Given the description of an element on the screen output the (x, y) to click on. 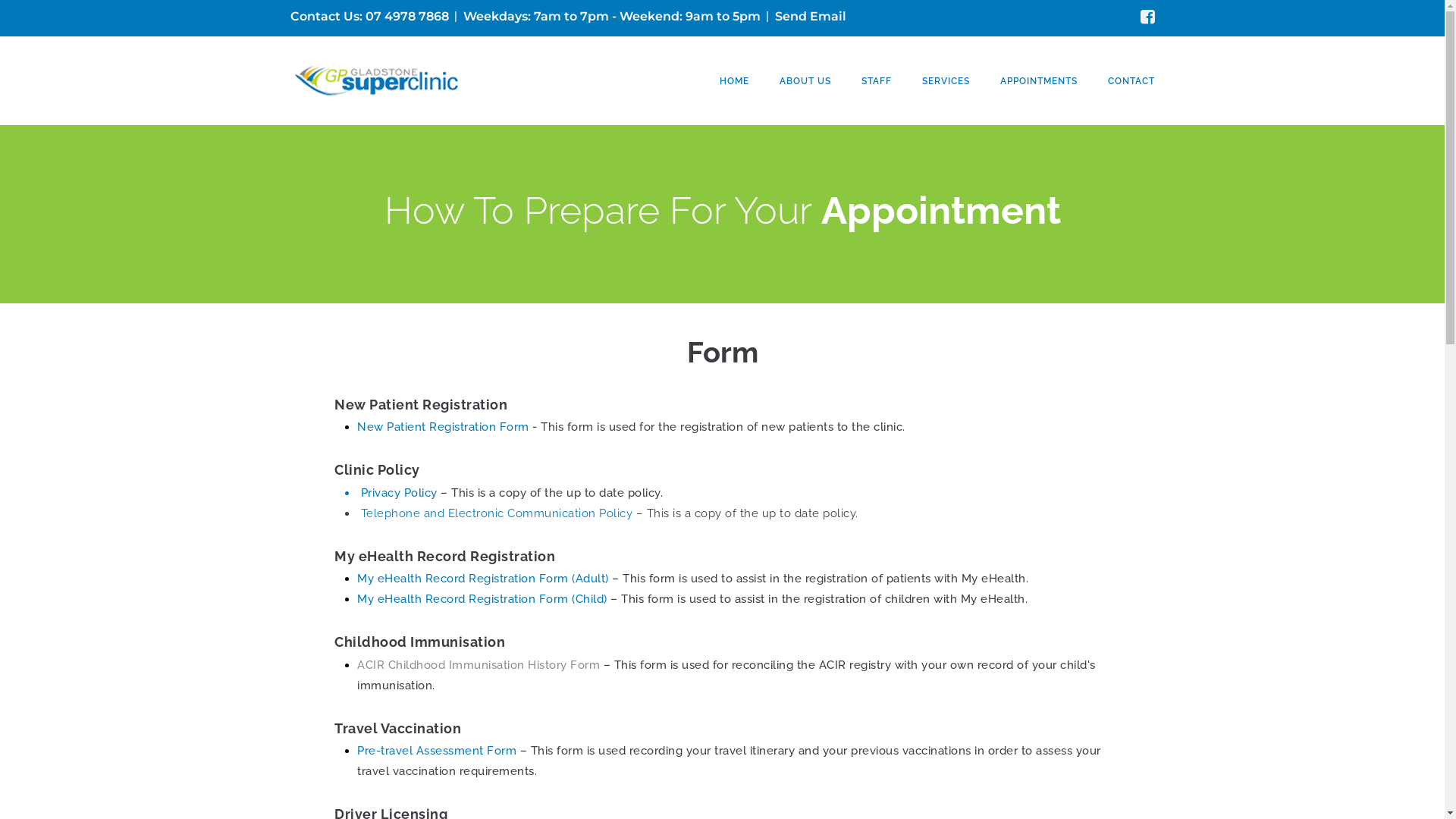
Weekdays: 7am to 7pm - Weekend: 9am to 5pm Element type: text (610, 16)
Telephone and Electronic Communication Policy  Element type: text (498, 513)
SERVICES Element type: text (945, 80)
HOME Element type: text (733, 80)
My eHealth Record Registration Form (Adult) Element type: text (482, 578)
STAFF Element type: text (876, 80)
New Patient Registration Form Element type: text (443, 426)
ABOUT US Element type: text (805, 80)
 Privacy Policy  Element type: text (398, 492)
Pre-travel Assessment Form Element type: text (436, 750)
Contact Us: 07 4978 7868 Element type: text (368, 16)
APPOINTMENTS Element type: text (1037, 80)
Send Email Element type: text (810, 16)
My eHealth Record Registration Form (Child) Element type: text (482, 598)
  Element type: text (358, 513)
CONTACT Element type: text (1130, 80)
